Given the description of an element on the screen output the (x, y) to click on. 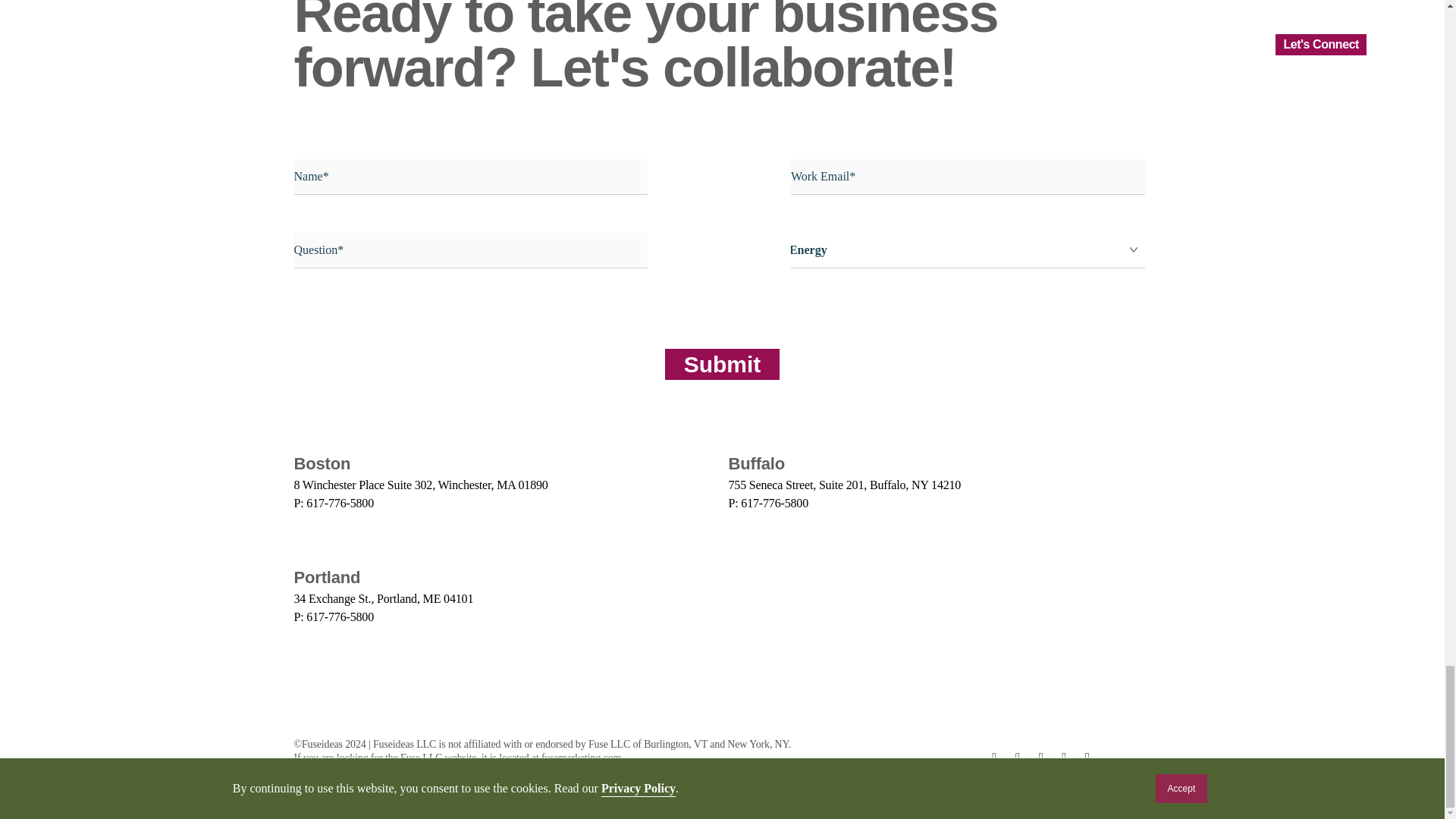
Submit (722, 364)
